Given the description of an element on the screen output the (x, y) to click on. 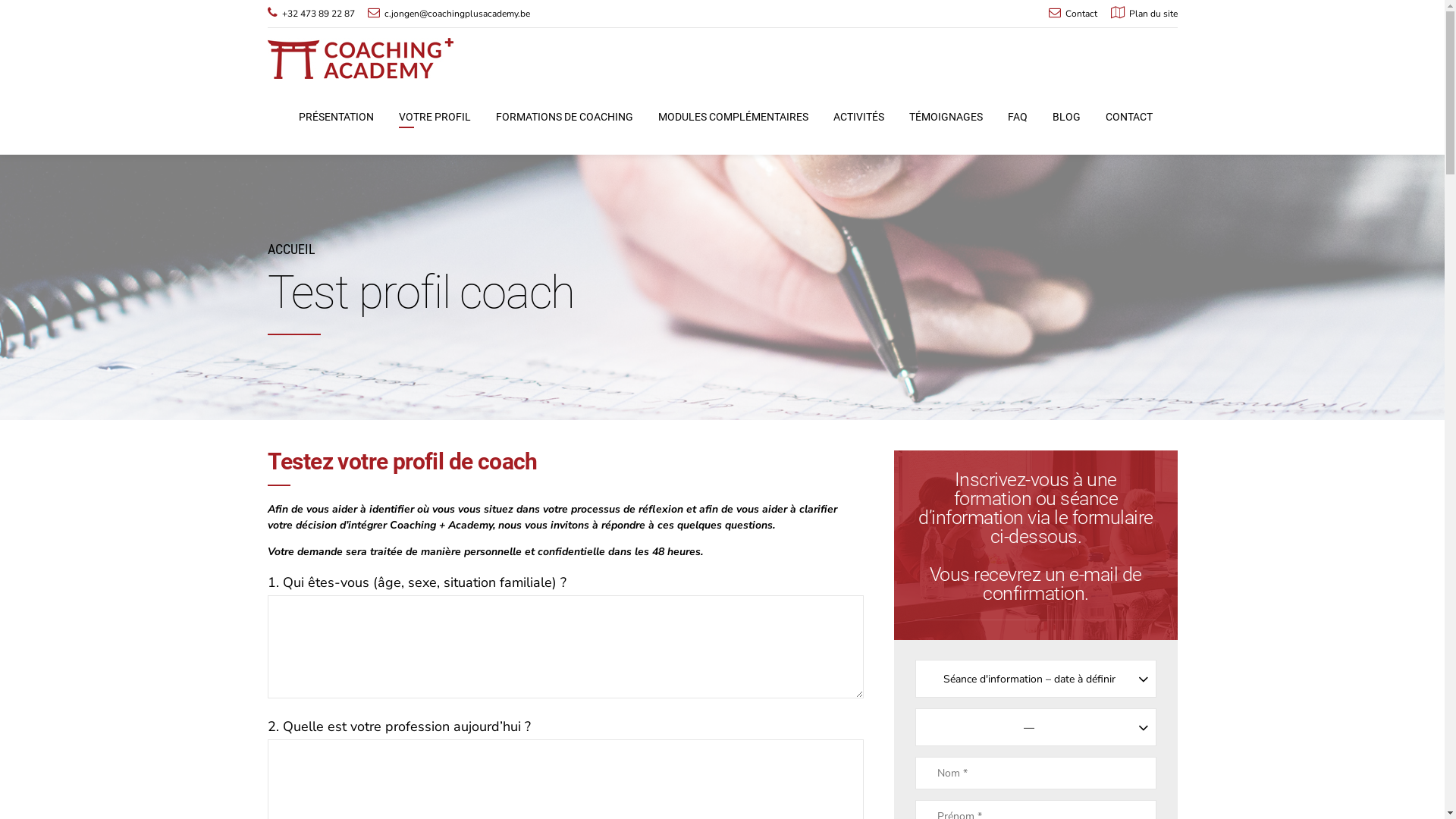
FAQ Element type: text (1016, 116)
Plan du site Element type: text (1143, 13)
FORMATIONS DE COACHING Element type: text (564, 116)
CONTACT Element type: text (1128, 116)
Contact Element type: text (1072, 13)
ACCUEIL Element type: text (290, 249)
BLOG Element type: text (1066, 116)
c.jongen@coachingplusacademy.be Element type: text (448, 13)
+32 473 89 22 87 Element type: text (310, 13)
VOTRE PROFIL Element type: text (434, 116)
